Given the description of an element on the screen output the (x, y) to click on. 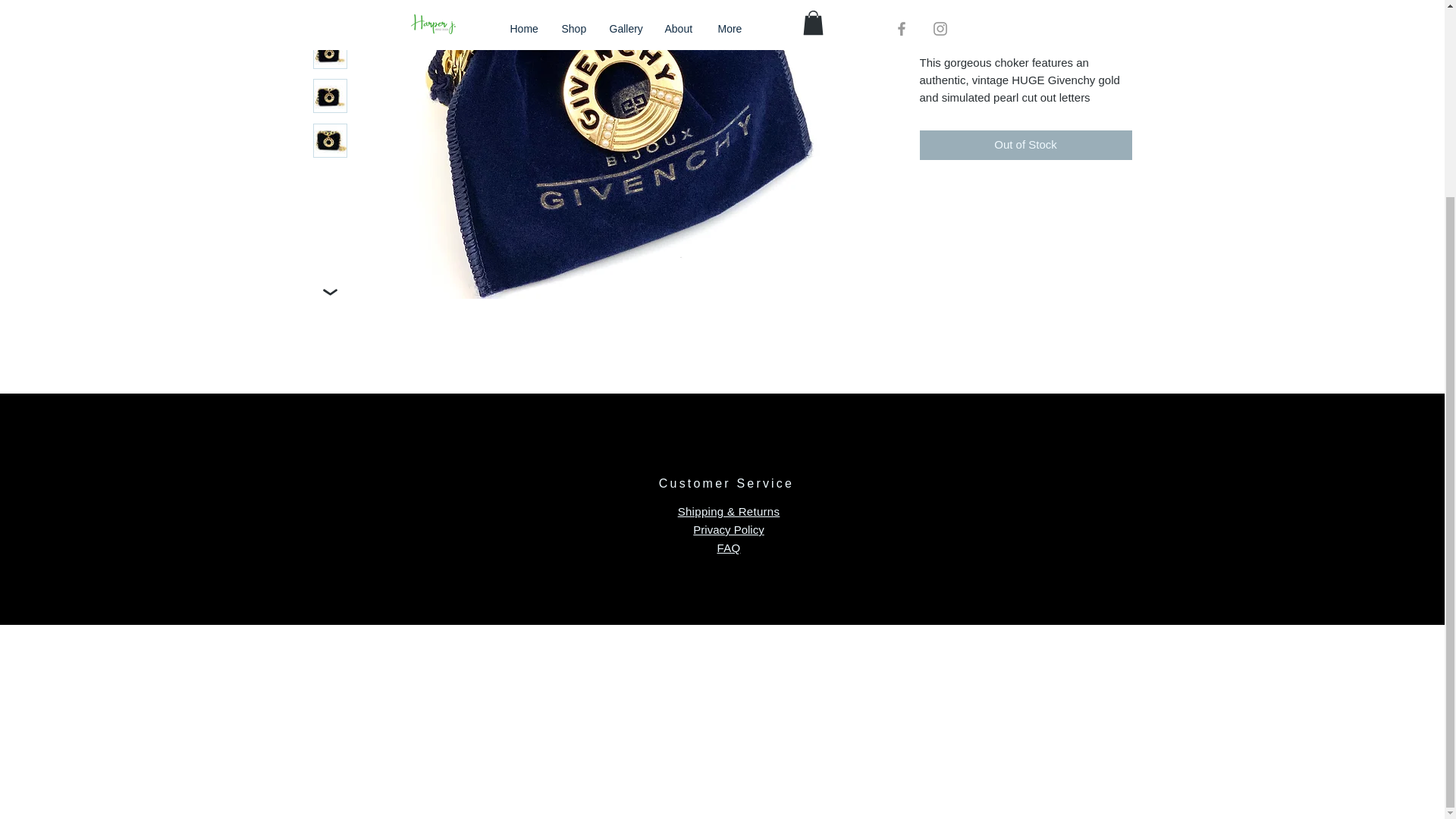
Out of Stock (1024, 144)
FAQ (729, 547)
Privacy Policy (727, 529)
